Given the description of an element on the screen output the (x, y) to click on. 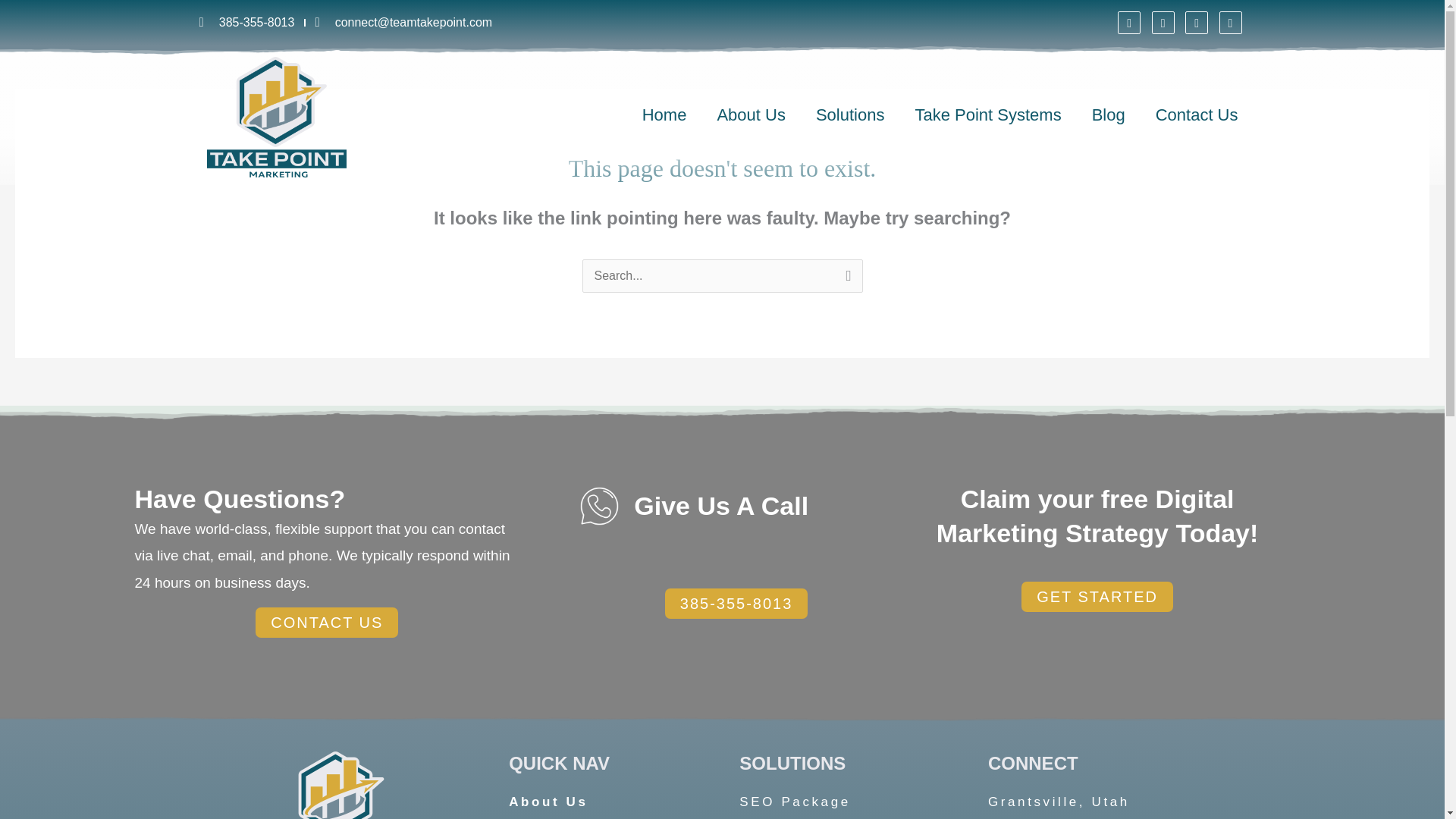
Blog (1108, 114)
Take Point Systems (987, 114)
Contact Us (1196, 114)
Solutions (849, 114)
385-355-8013 (246, 22)
Home (664, 114)
Search (844, 276)
About Us (750, 114)
Search (844, 276)
